Given the description of an element on the screen output the (x, y) to click on. 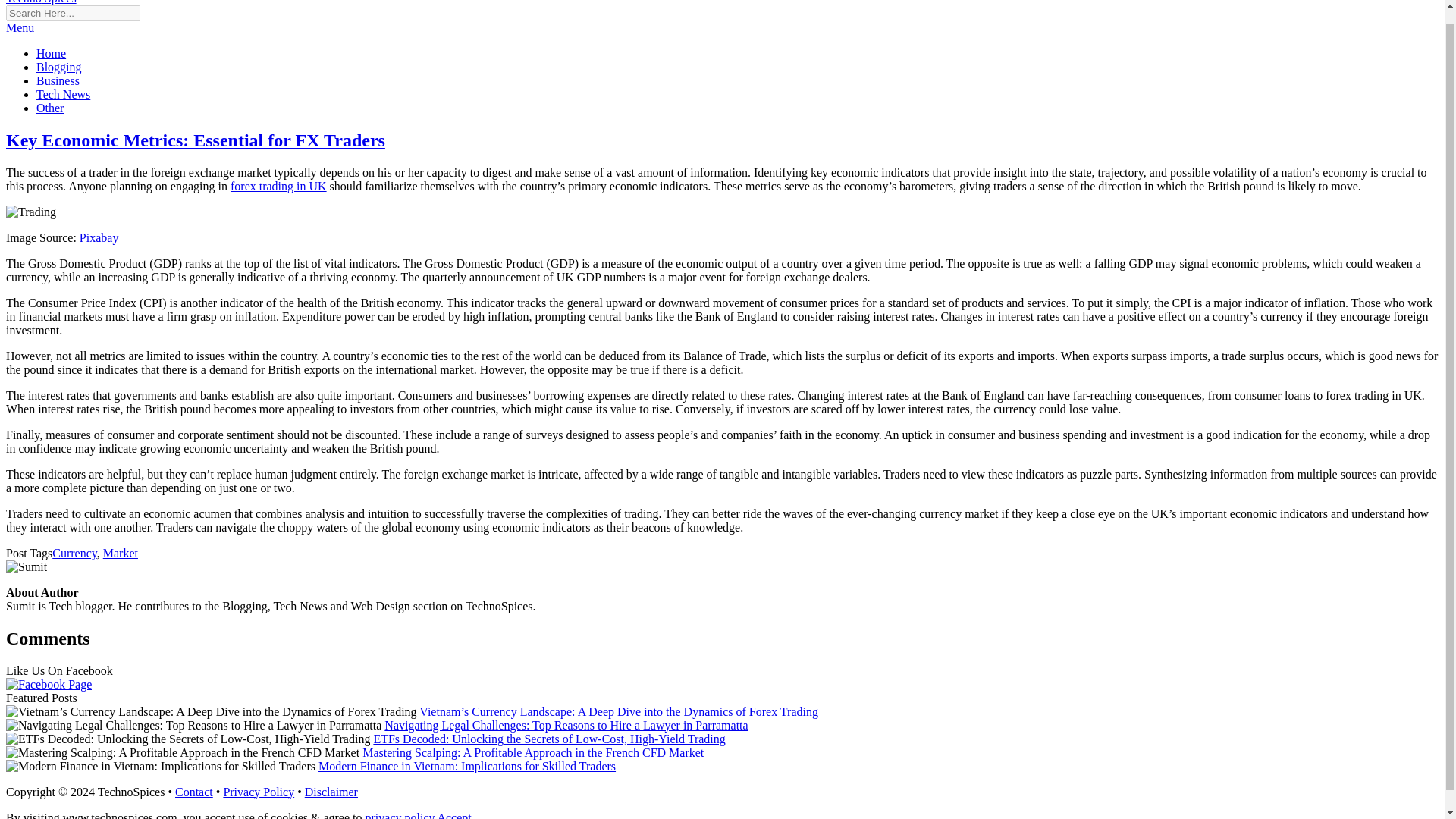
Privacy Policy (258, 791)
Blogging (58, 66)
Home (50, 52)
Market (120, 553)
forex trading in UK (278, 185)
Disclaimer (331, 791)
Key Economic Metrics: Essential for FX Traders (195, 139)
Techno Spices (41, 2)
Pixabay (99, 237)
Tech News (63, 93)
Contact (193, 791)
Menu (19, 27)
